Given the description of an element on the screen output the (x, y) to click on. 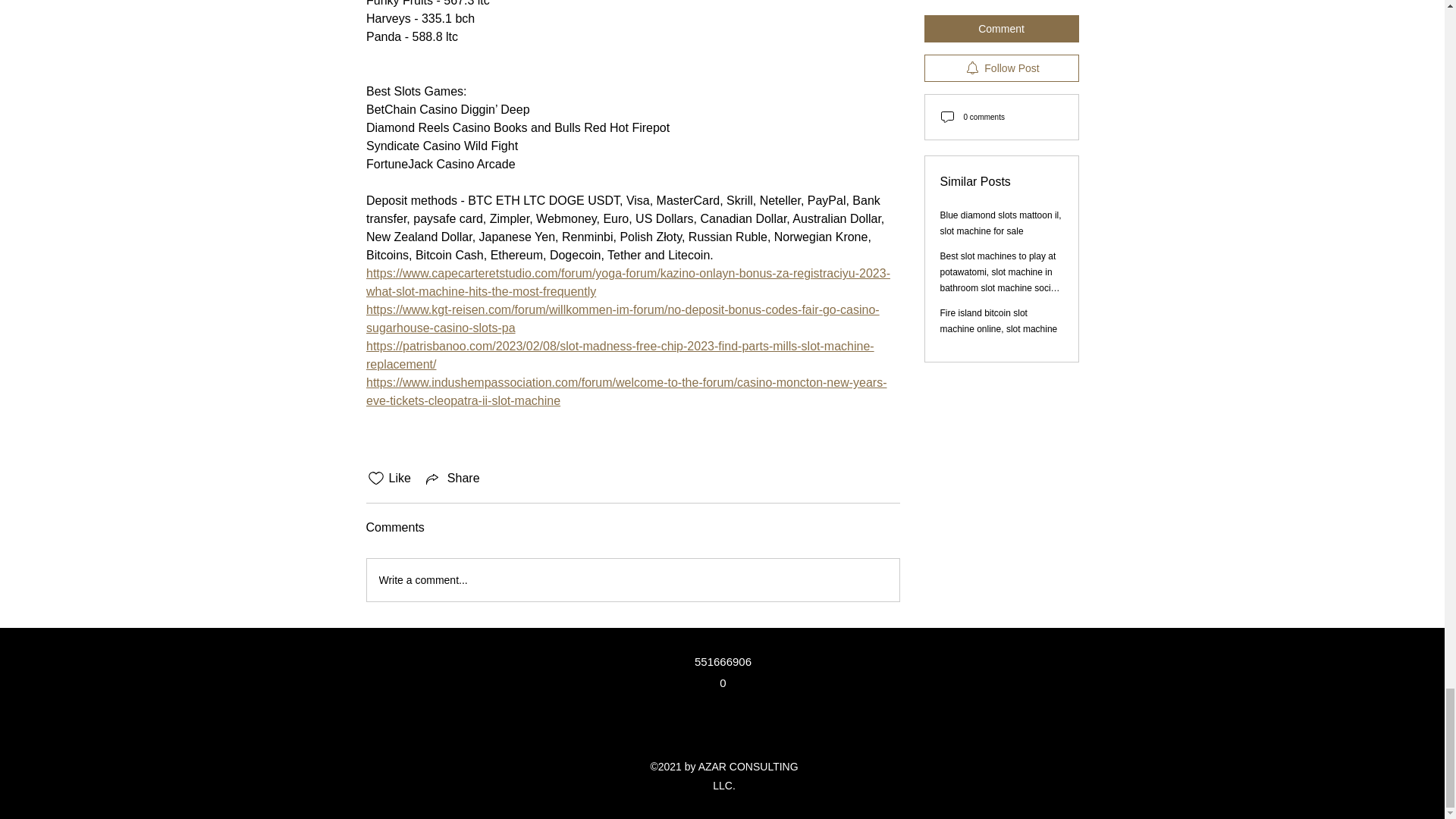
Share (451, 478)
Write a comment... (632, 579)
